Given the description of an element on the screen output the (x, y) to click on. 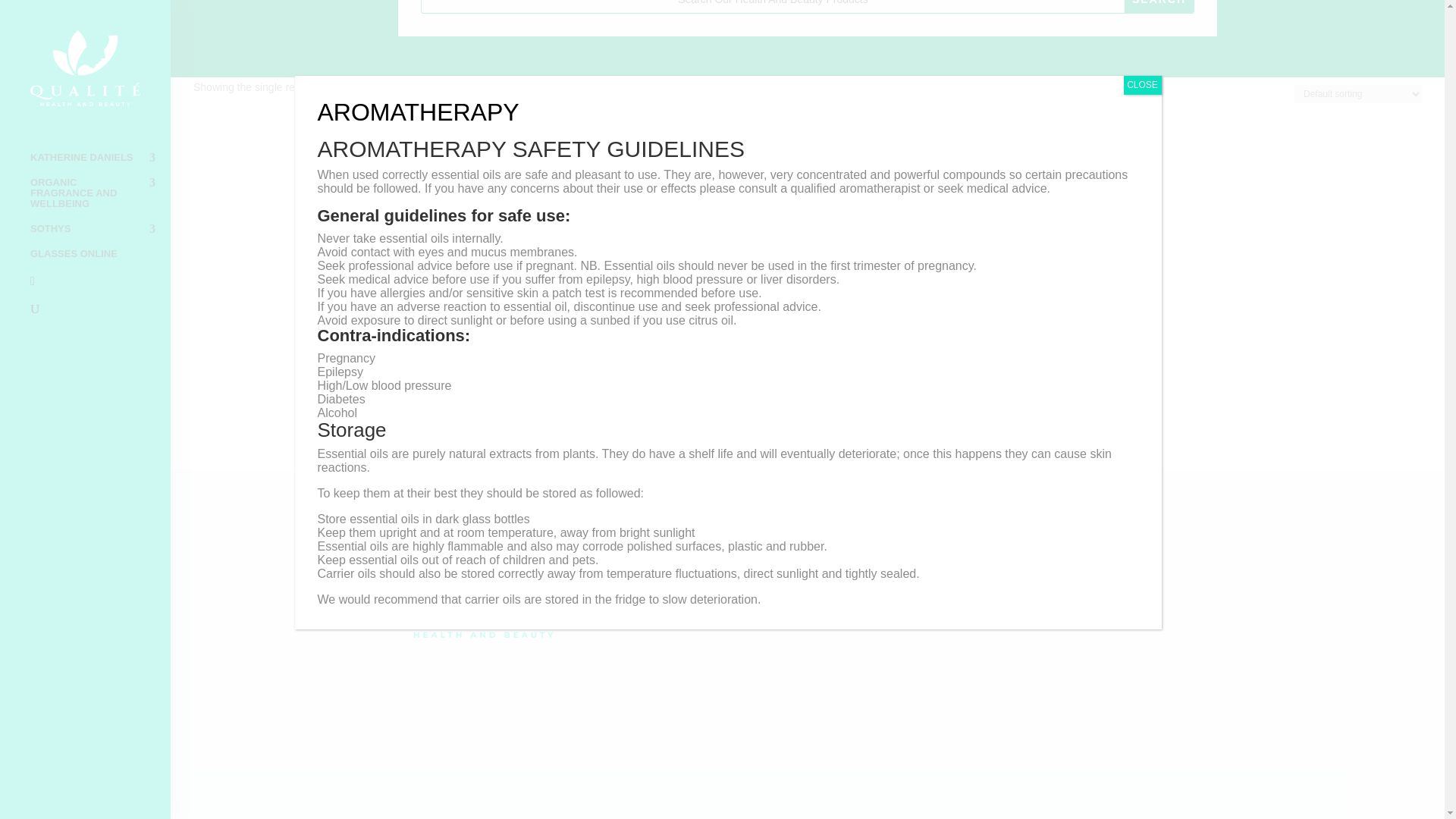
Search (1158, 6)
Search (1158, 6)
